Given the description of an element on the screen output the (x, y) to click on. 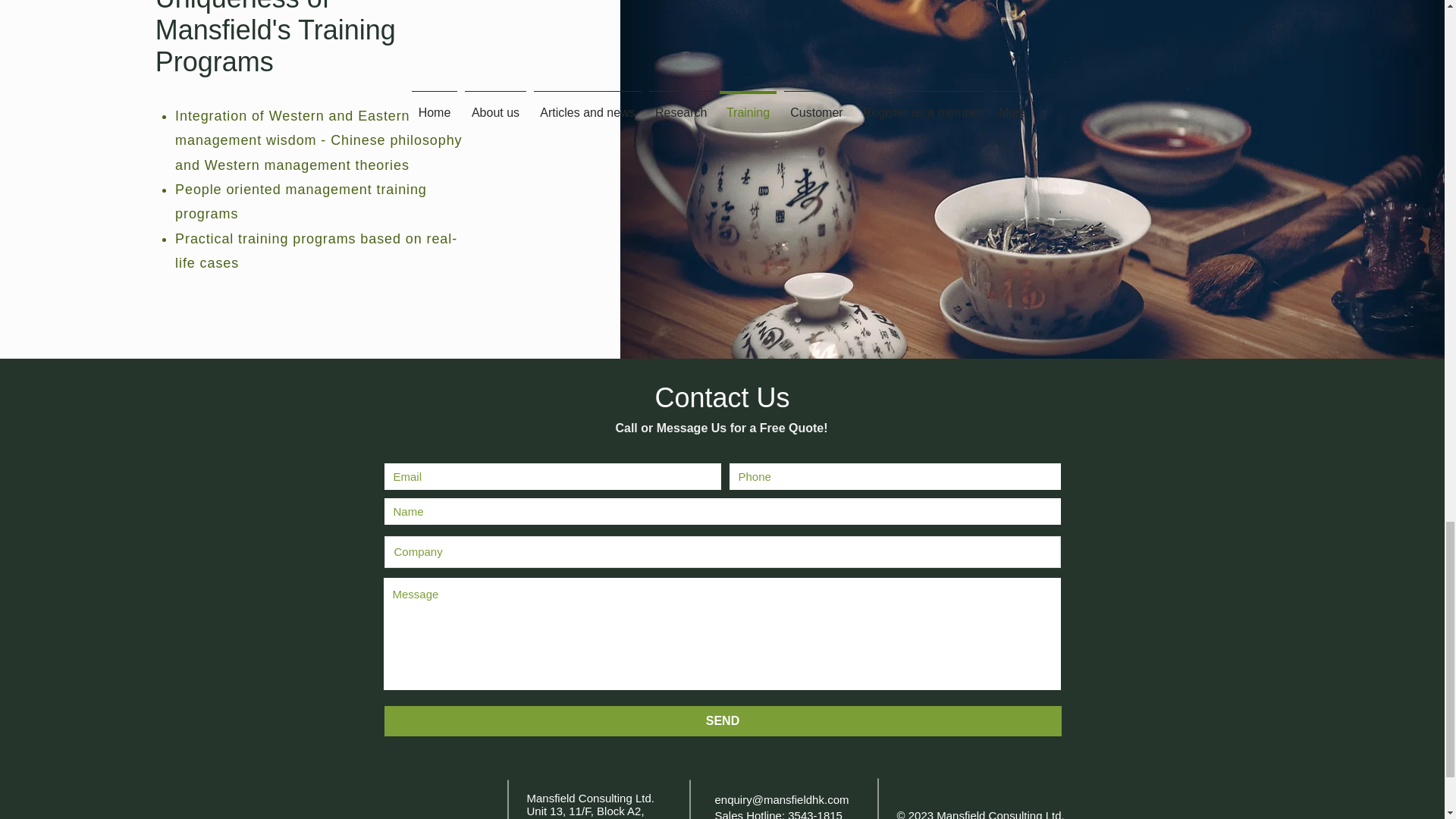
SEND (722, 720)
